Given the description of an element on the screen output the (x, y) to click on. 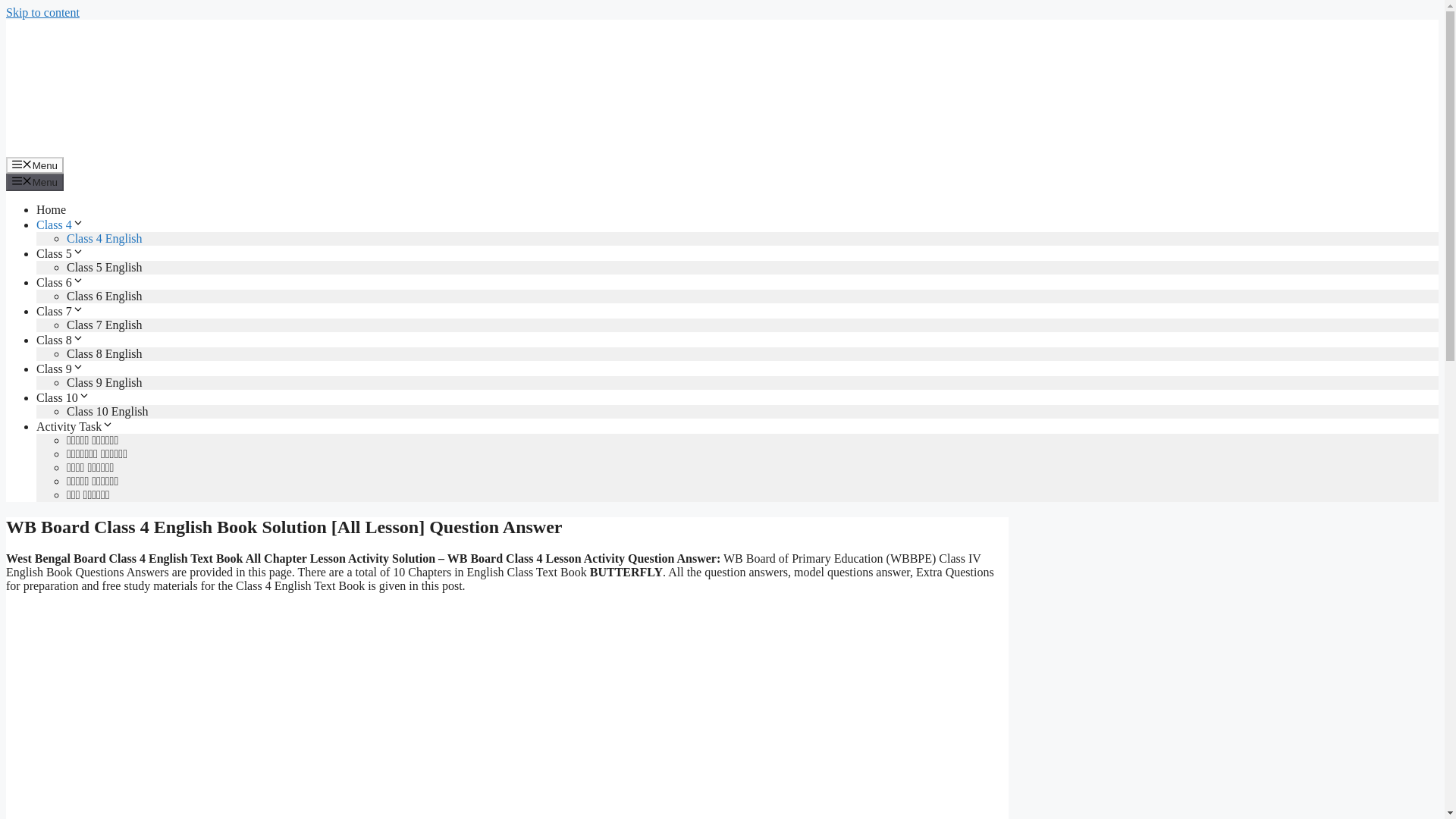
Class 10 English (107, 410)
Class 9 (60, 368)
Skip to content (42, 11)
Home (50, 209)
Class 4 (60, 224)
Class 9 English (104, 382)
Activity Task (74, 426)
Class 4 English (104, 237)
Class 6 (60, 282)
Skip to content (42, 11)
Class 8 (60, 339)
Menu (34, 165)
Class 8 English (104, 353)
Class 5 English (104, 267)
Class 10 (63, 397)
